Given the description of an element on the screen output the (x, y) to click on. 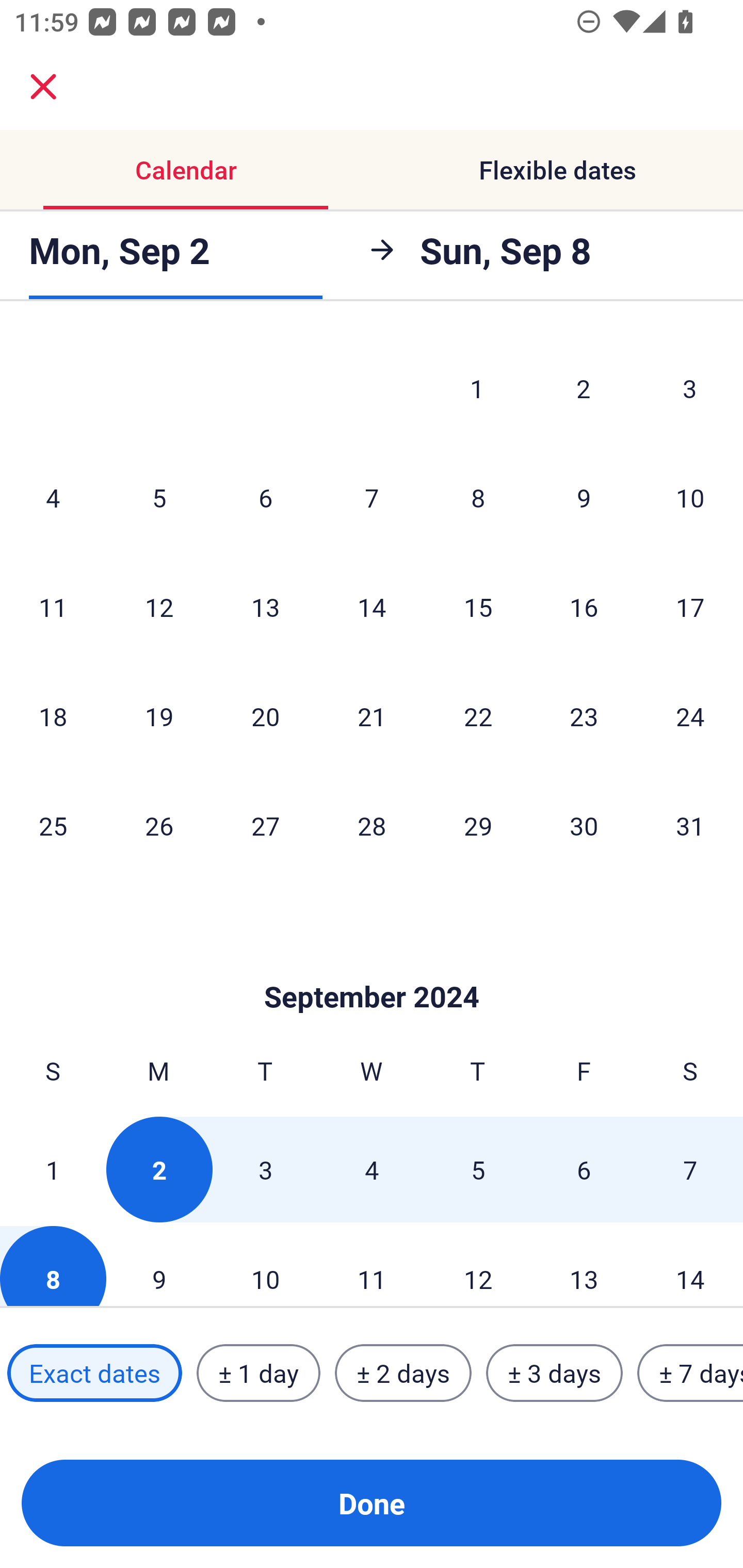
close. (43, 86)
Flexible dates (557, 170)
1 Thursday, August 1, 2024 (477, 387)
2 Friday, August 2, 2024 (583, 387)
3 Saturday, August 3, 2024 (689, 387)
4 Sunday, August 4, 2024 (53, 497)
5 Monday, August 5, 2024 (159, 497)
6 Tuesday, August 6, 2024 (265, 497)
7 Wednesday, August 7, 2024 (371, 497)
8 Thursday, August 8, 2024 (477, 497)
9 Friday, August 9, 2024 (584, 497)
10 Saturday, August 10, 2024 (690, 497)
11 Sunday, August 11, 2024 (53, 606)
12 Monday, August 12, 2024 (159, 606)
13 Tuesday, August 13, 2024 (265, 606)
14 Wednesday, August 14, 2024 (371, 606)
15 Thursday, August 15, 2024 (477, 606)
16 Friday, August 16, 2024 (584, 606)
17 Saturday, August 17, 2024 (690, 606)
18 Sunday, August 18, 2024 (53, 715)
19 Monday, August 19, 2024 (159, 715)
20 Tuesday, August 20, 2024 (265, 715)
21 Wednesday, August 21, 2024 (371, 715)
22 Thursday, August 22, 2024 (477, 715)
23 Friday, August 23, 2024 (584, 715)
24 Saturday, August 24, 2024 (690, 715)
25 Sunday, August 25, 2024 (53, 825)
26 Monday, August 26, 2024 (159, 825)
27 Tuesday, August 27, 2024 (265, 825)
28 Wednesday, August 28, 2024 (371, 825)
29 Thursday, August 29, 2024 (477, 825)
30 Friday, August 30, 2024 (584, 825)
31 Saturday, August 31, 2024 (690, 825)
Skip to Done (371, 965)
1 Sunday, September 1, 2024 (53, 1169)
9 Monday, September 9, 2024 (159, 1266)
10 Tuesday, September 10, 2024 (265, 1266)
11 Wednesday, September 11, 2024 (371, 1266)
12 Thursday, September 12, 2024 (477, 1266)
13 Friday, September 13, 2024 (584, 1266)
14 Saturday, September 14, 2024 (690, 1266)
Exact dates (94, 1372)
± 1 day (258, 1372)
± 2 days (403, 1372)
± 3 days (553, 1372)
± 7 days (690, 1372)
Done (371, 1502)
